Given the description of an element on the screen output the (x, y) to click on. 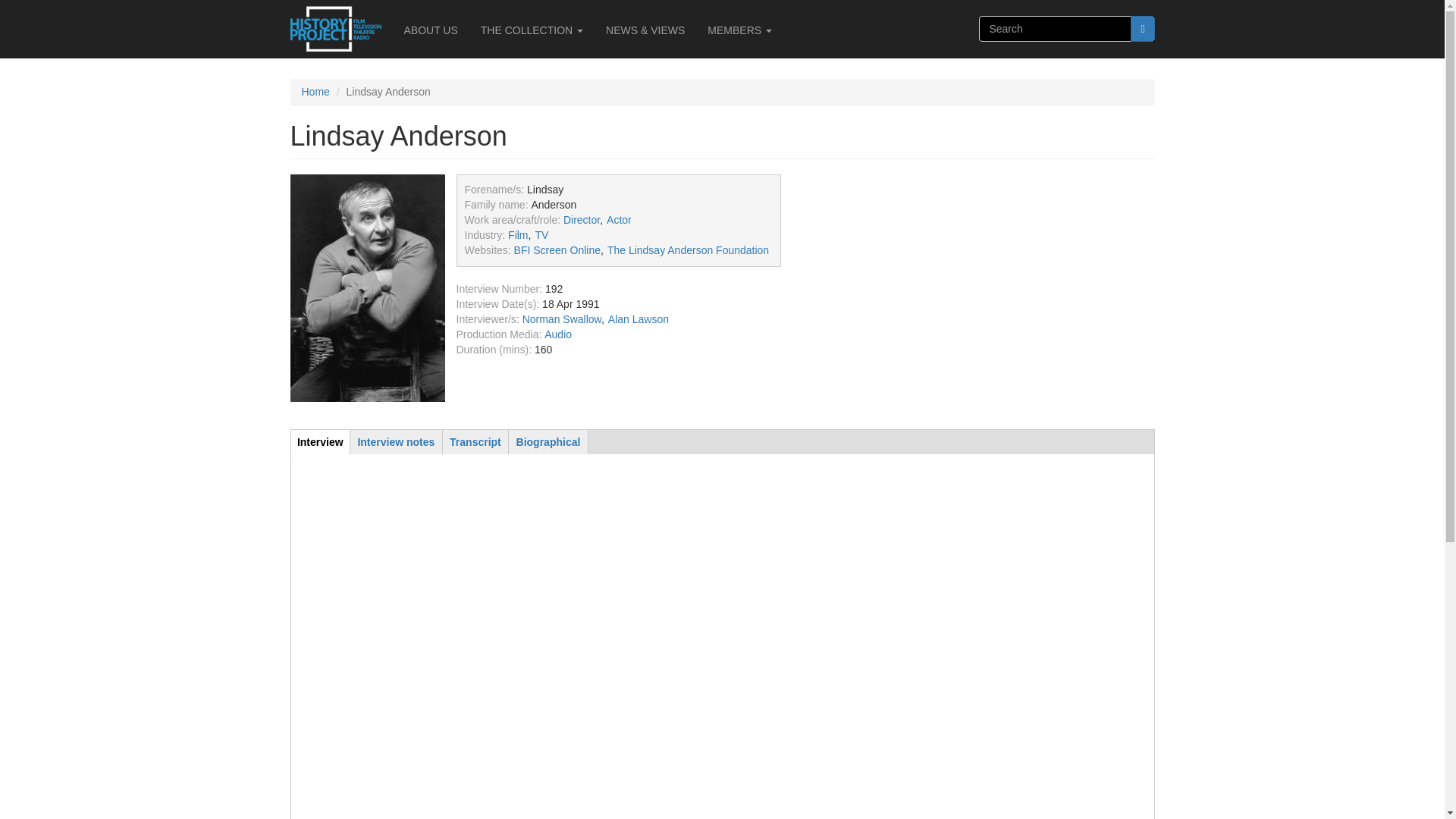
Enter the terms you wish to search for. (1054, 28)
Alan Lawson (638, 318)
Transcript (475, 441)
Home (340, 28)
THE COLLECTION (531, 30)
TV (541, 234)
Interview notes (395, 441)
BFI Screen Online (556, 250)
